Given the description of an element on the screen output the (x, y) to click on. 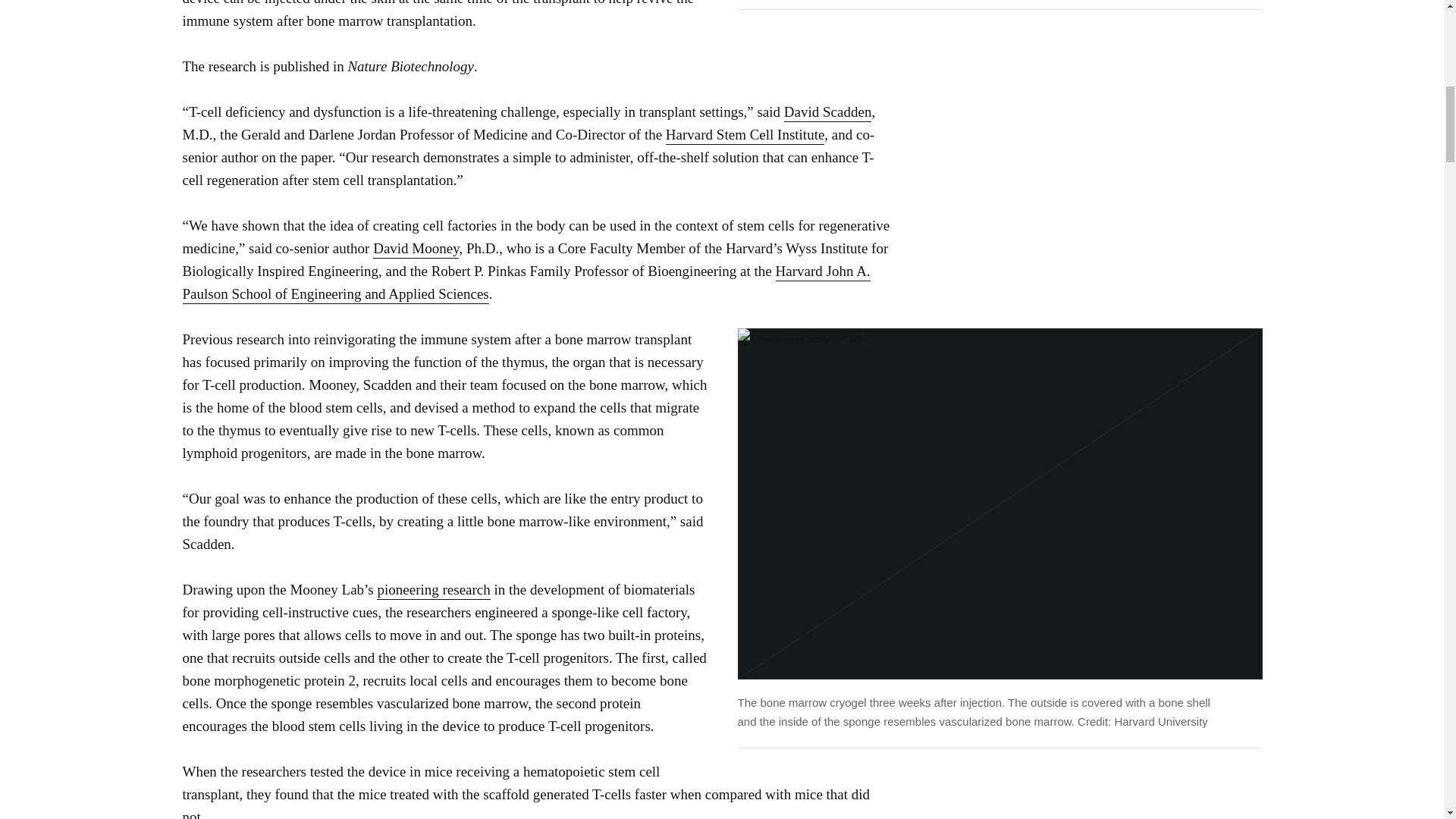
David Mooney (415, 249)
David Scadden (828, 113)
Harvard Stem Cell Institute (744, 135)
pioneering research (433, 590)
